Given the description of an element on the screen output the (x, y) to click on. 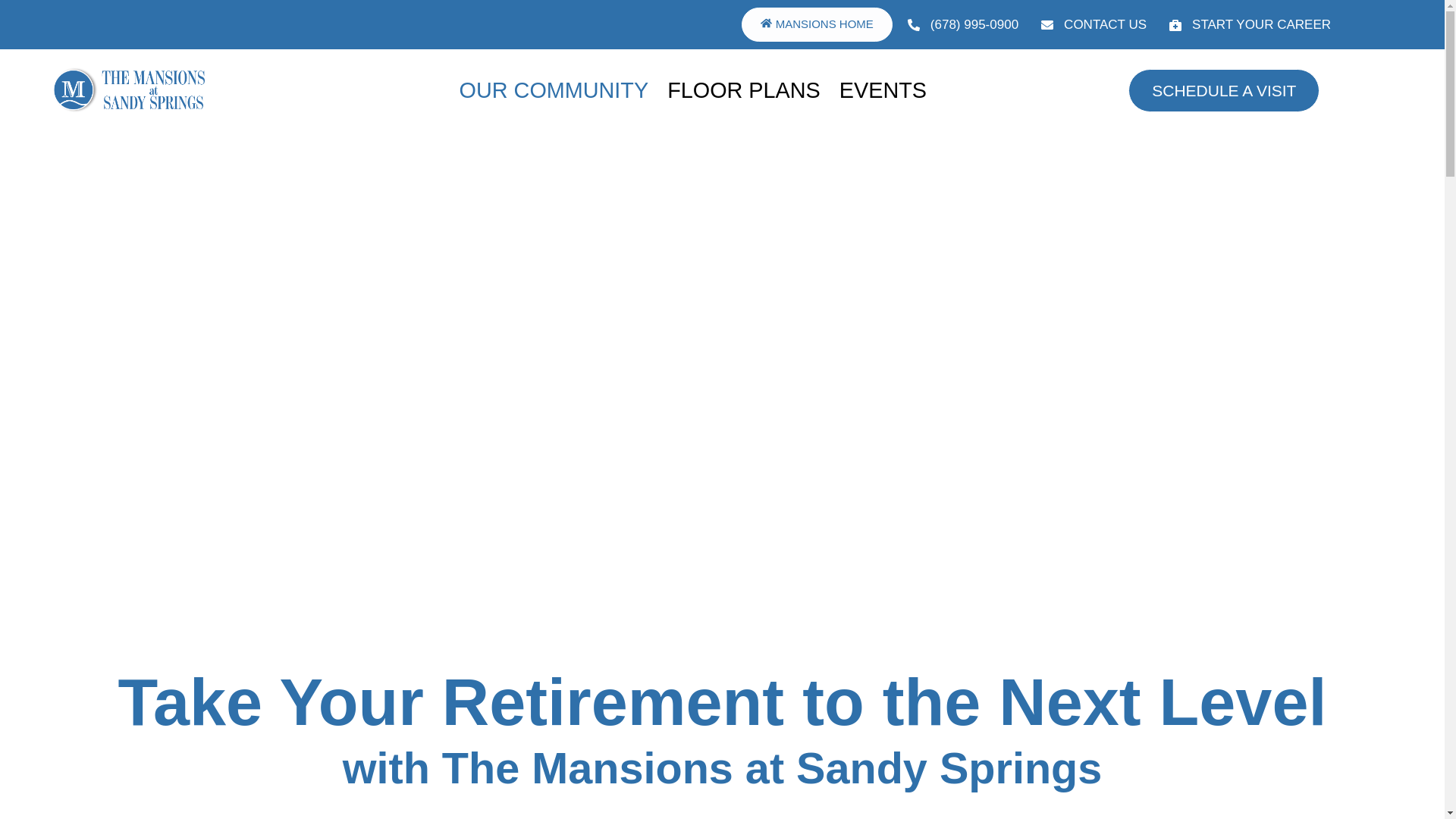
START YOUR CAREER (1249, 25)
OUR COMMUNITY (556, 90)
CONTACT US (1094, 25)
MANSIONS HOME (816, 24)
EVENTS (884, 90)
FLOOR PLANS (745, 90)
SCHEDULE A VISIT (1223, 89)
